Given the description of an element on the screen output the (x, y) to click on. 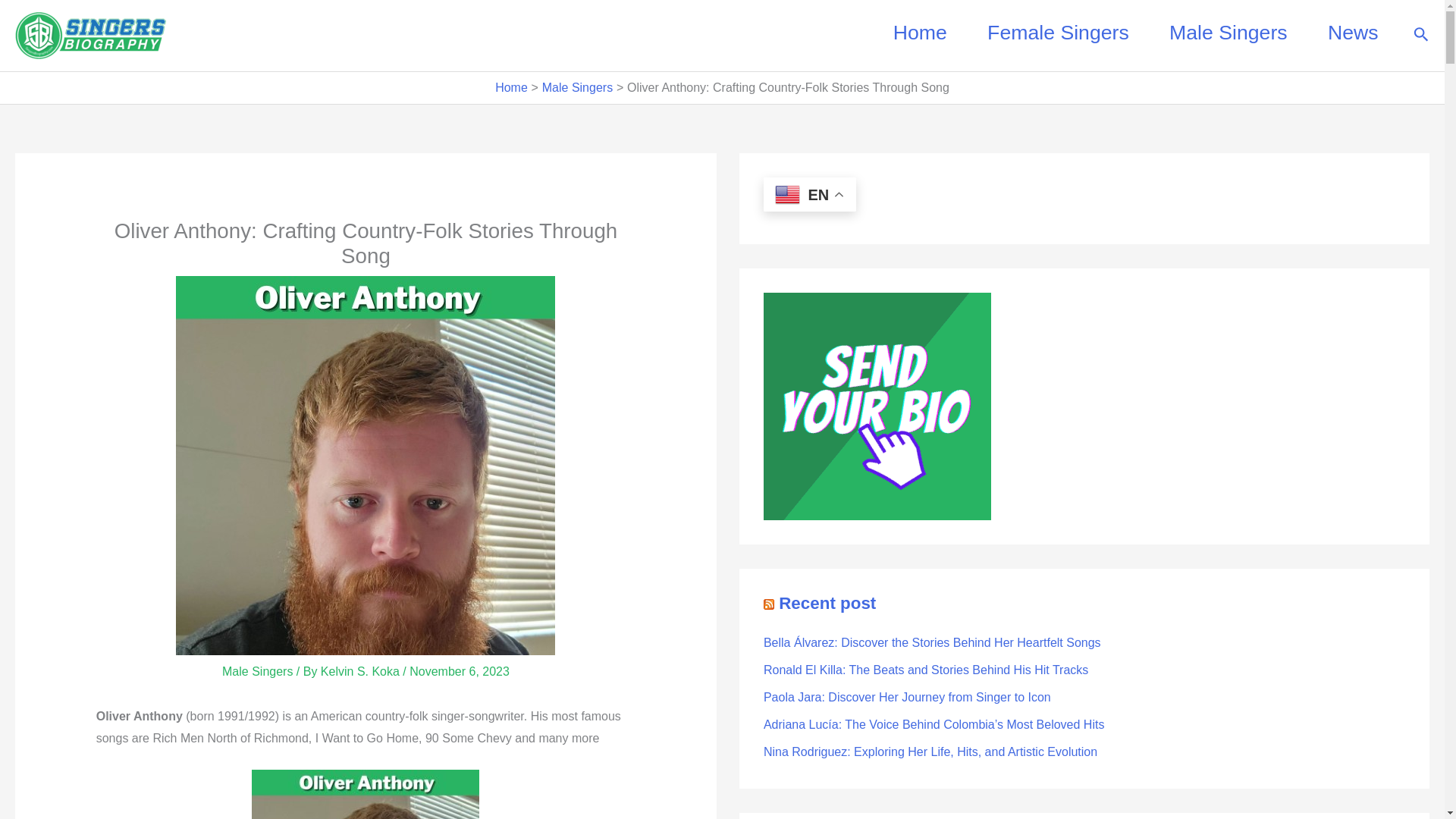
Male Singers (1227, 32)
Female Singers (1057, 32)
Home (511, 87)
View all posts by Kelvin S. Koka (361, 671)
Kelvin S. Koka (361, 671)
Male Singers (576, 87)
Home (919, 32)
News (1352, 32)
Male Singers (257, 671)
